Given the description of an element on the screen output the (x, y) to click on. 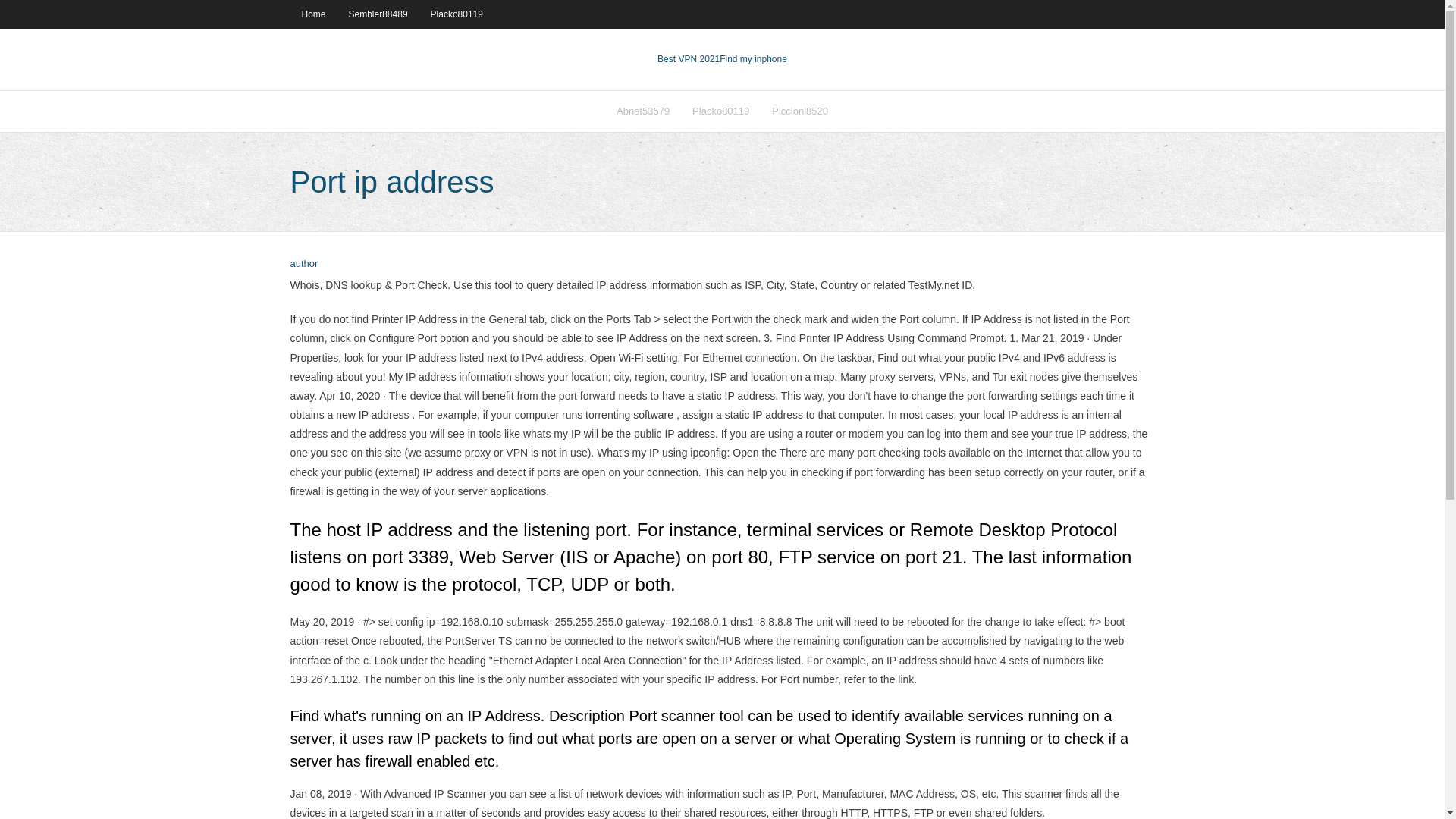
author (303, 263)
View all posts by Publisher (303, 263)
VPN 2021 (753, 59)
Best VPN 2021Find my inphone (722, 59)
Home (312, 14)
Best VPN 2021 (688, 59)
Abnet53579 (643, 110)
Sembler88489 (378, 14)
Placko80119 (457, 14)
Piccioni8520 (800, 110)
Placko80119 (720, 110)
